Given the description of an element on the screen output the (x, y) to click on. 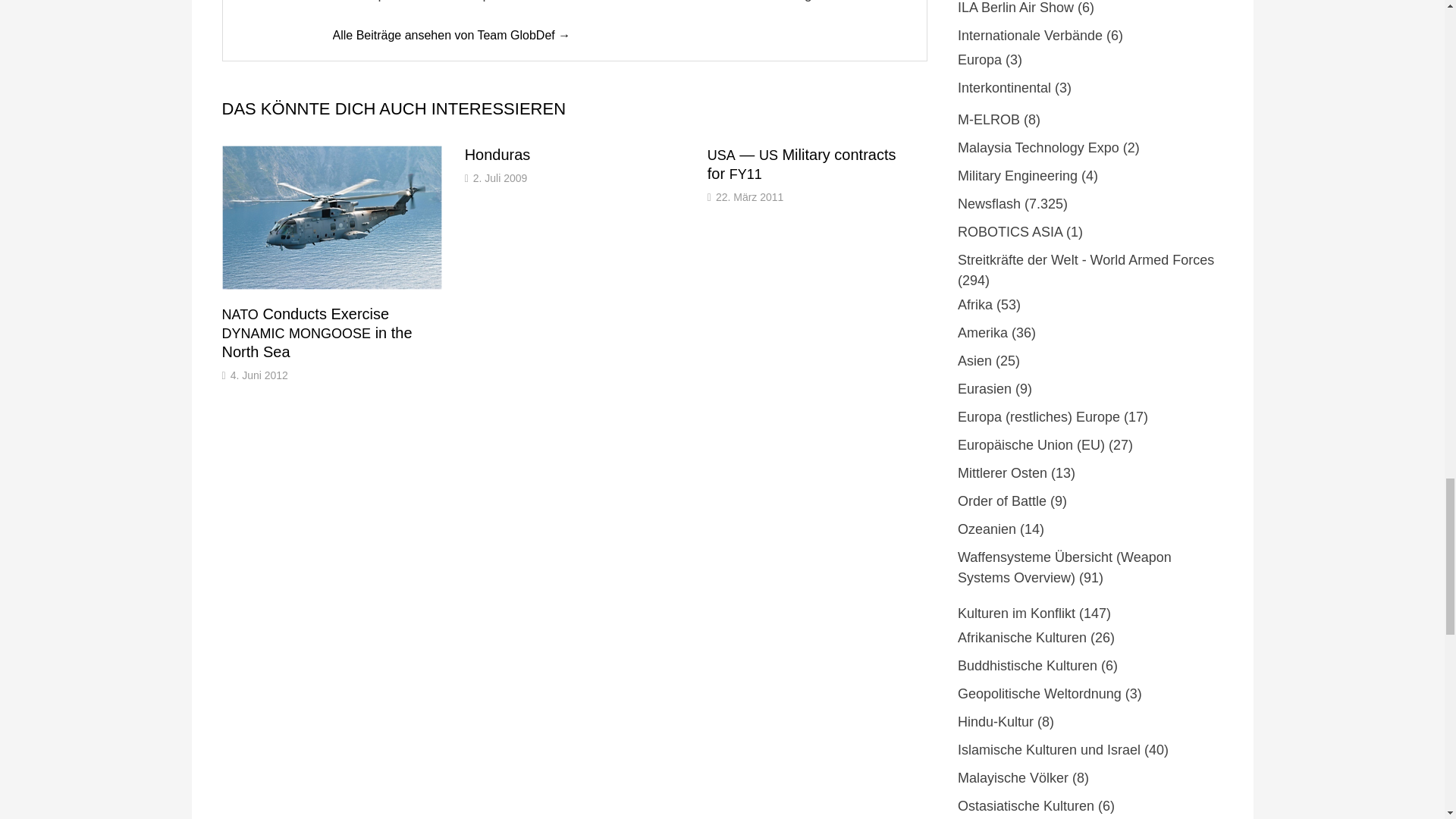
Team GlobDef (450, 34)
Honduras (497, 154)
